Given the description of an element on the screen output the (x, y) to click on. 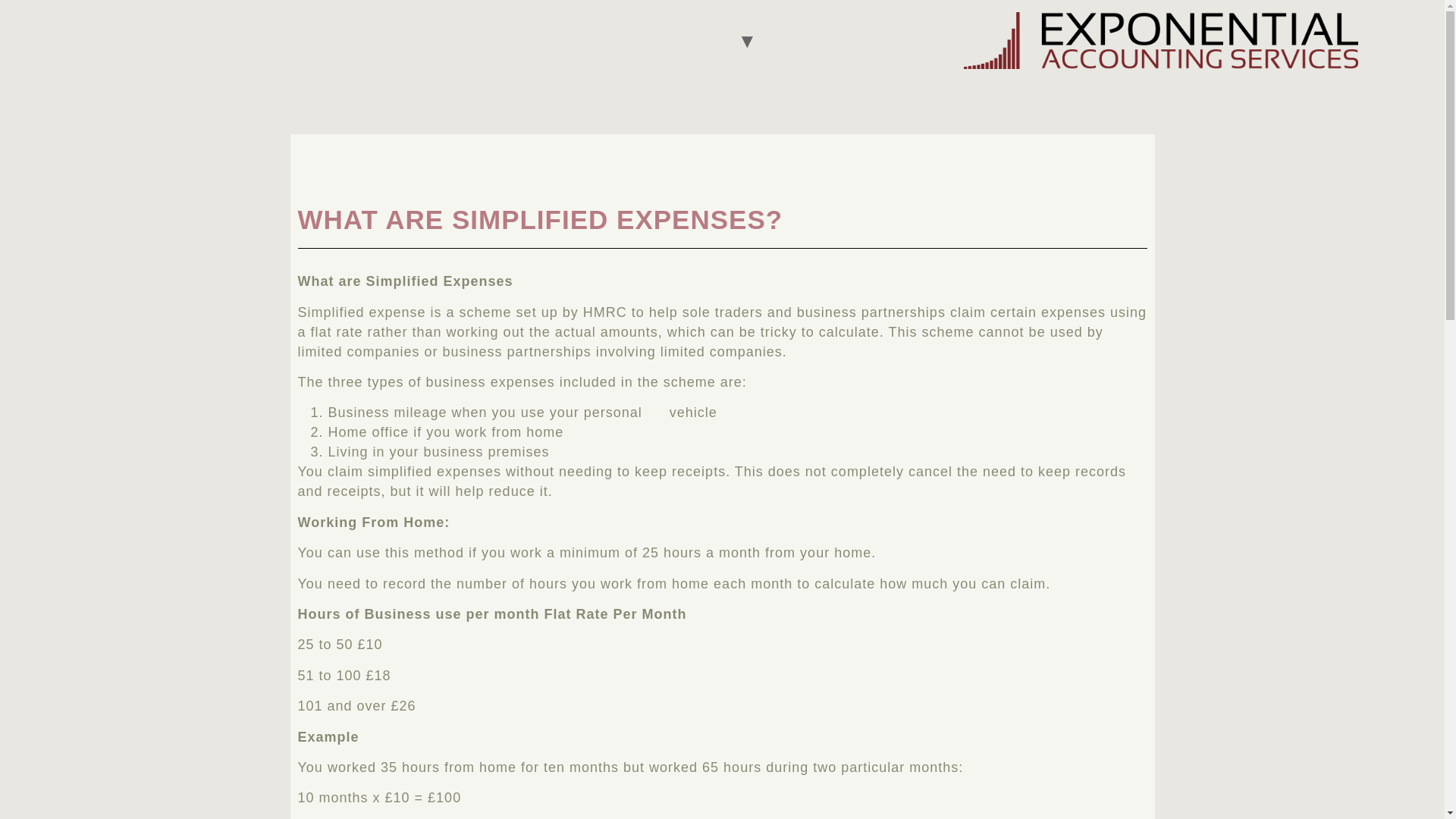
HOME (121, 40)
SERVICES (296, 40)
ABOUT (199, 40)
CONTACT (404, 40)
MORE (704, 40)
BLOGS (627, 40)
RESOURCES (521, 40)
